Given the description of an element on the screen output the (x, y) to click on. 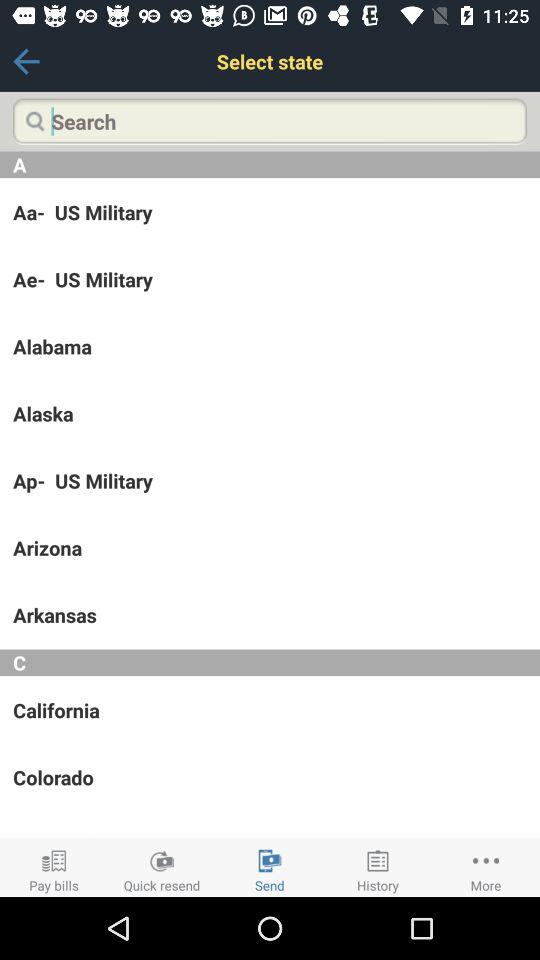
go back (26, 61)
